Given the description of an element on the screen output the (x, y) to click on. 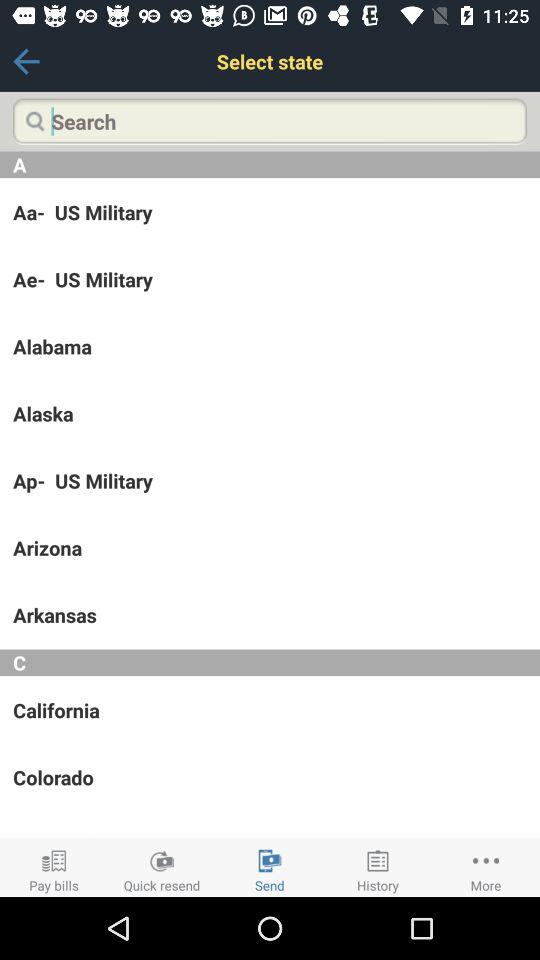
go back (26, 61)
